Given the description of an element on the screen output the (x, y) to click on. 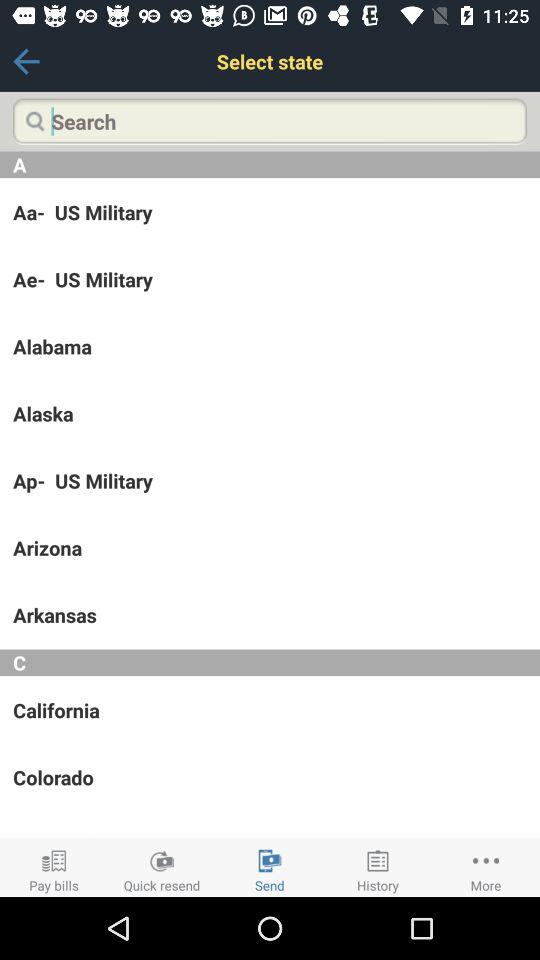
go back (26, 61)
